Given the description of an element on the screen output the (x, y) to click on. 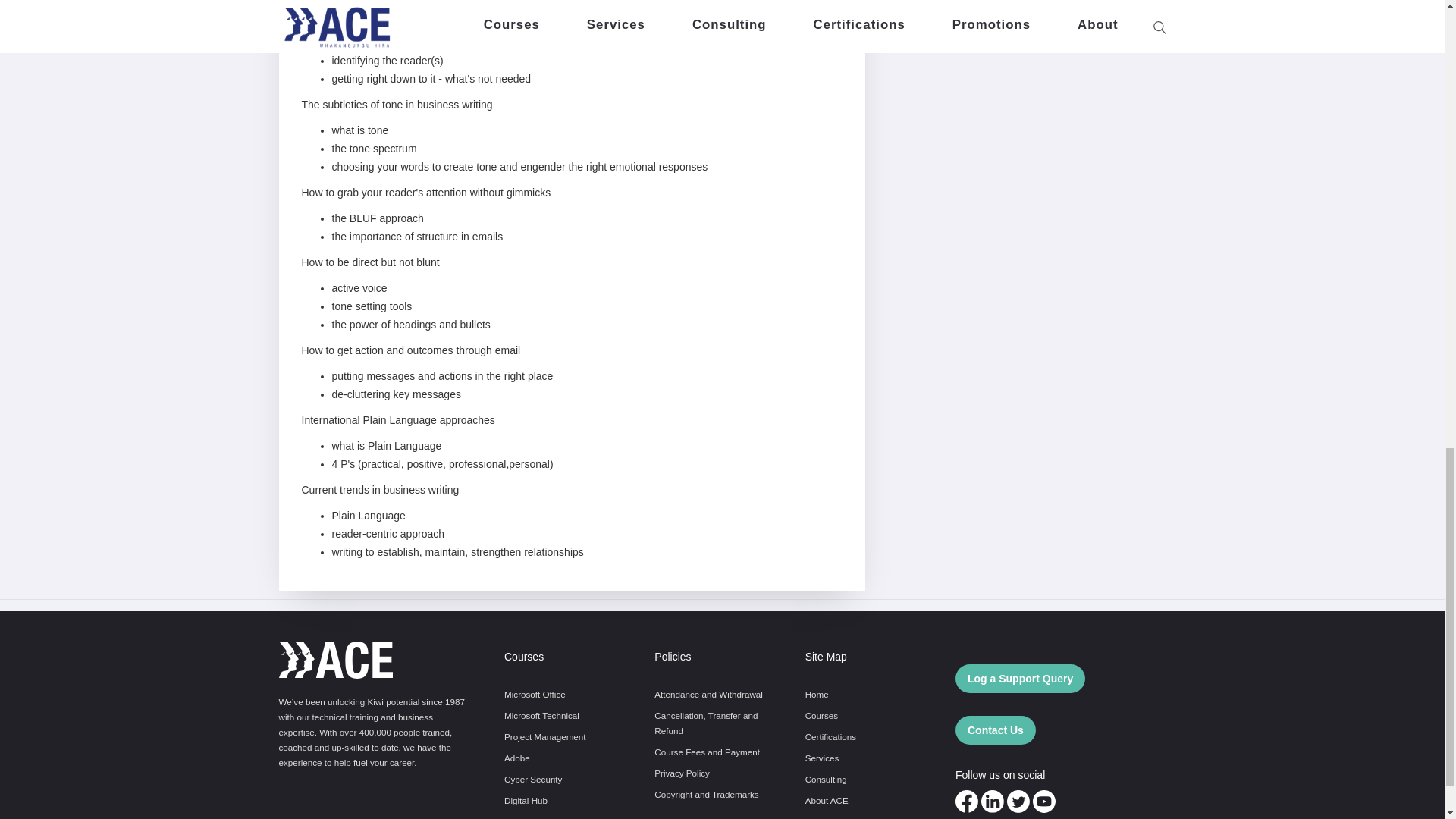
Home (816, 694)
Adobe (516, 758)
Digital Hub (525, 800)
Courses (821, 715)
Microsoft Technical (541, 715)
Cancellation, Transfer and Refund (710, 723)
Copyright and Trademarks (705, 794)
Course Fees and Payment (706, 752)
Privacy Policy (681, 773)
Microsoft Office (534, 694)
